Given the description of an element on the screen output the (x, y) to click on. 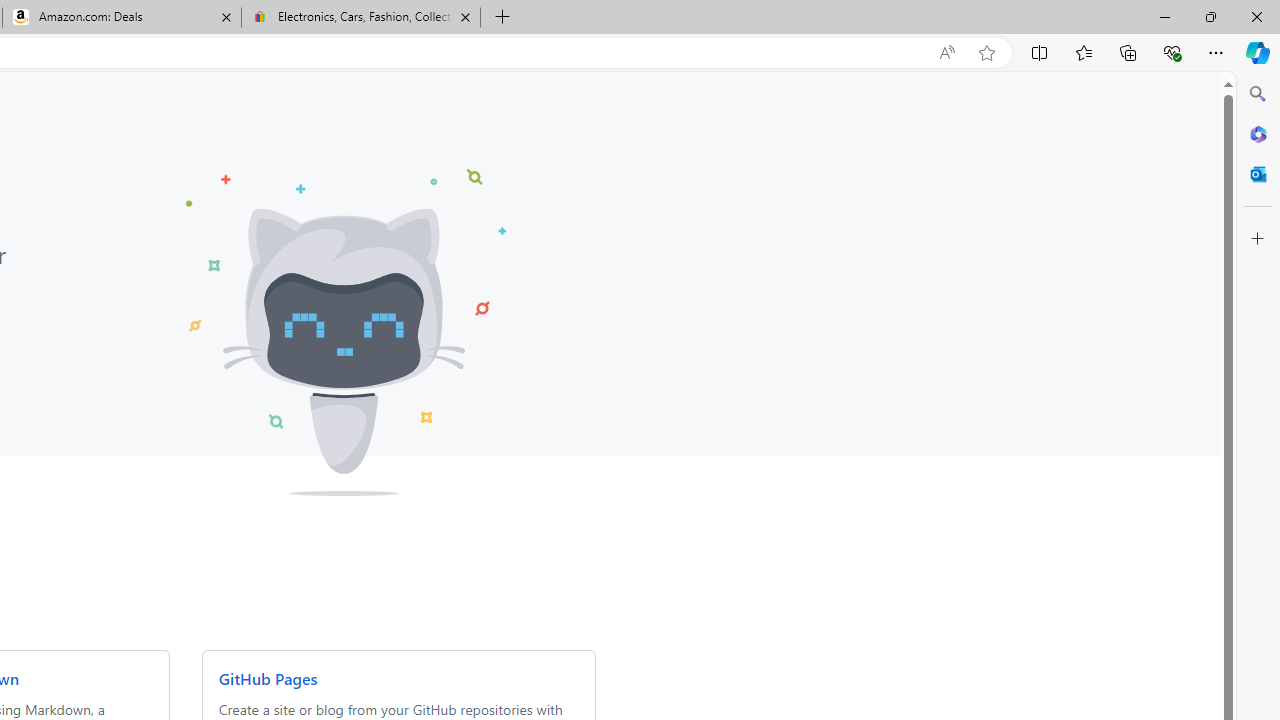
GitHub Pages (267, 678)
